Given the description of an element on the screen output the (x, y) to click on. 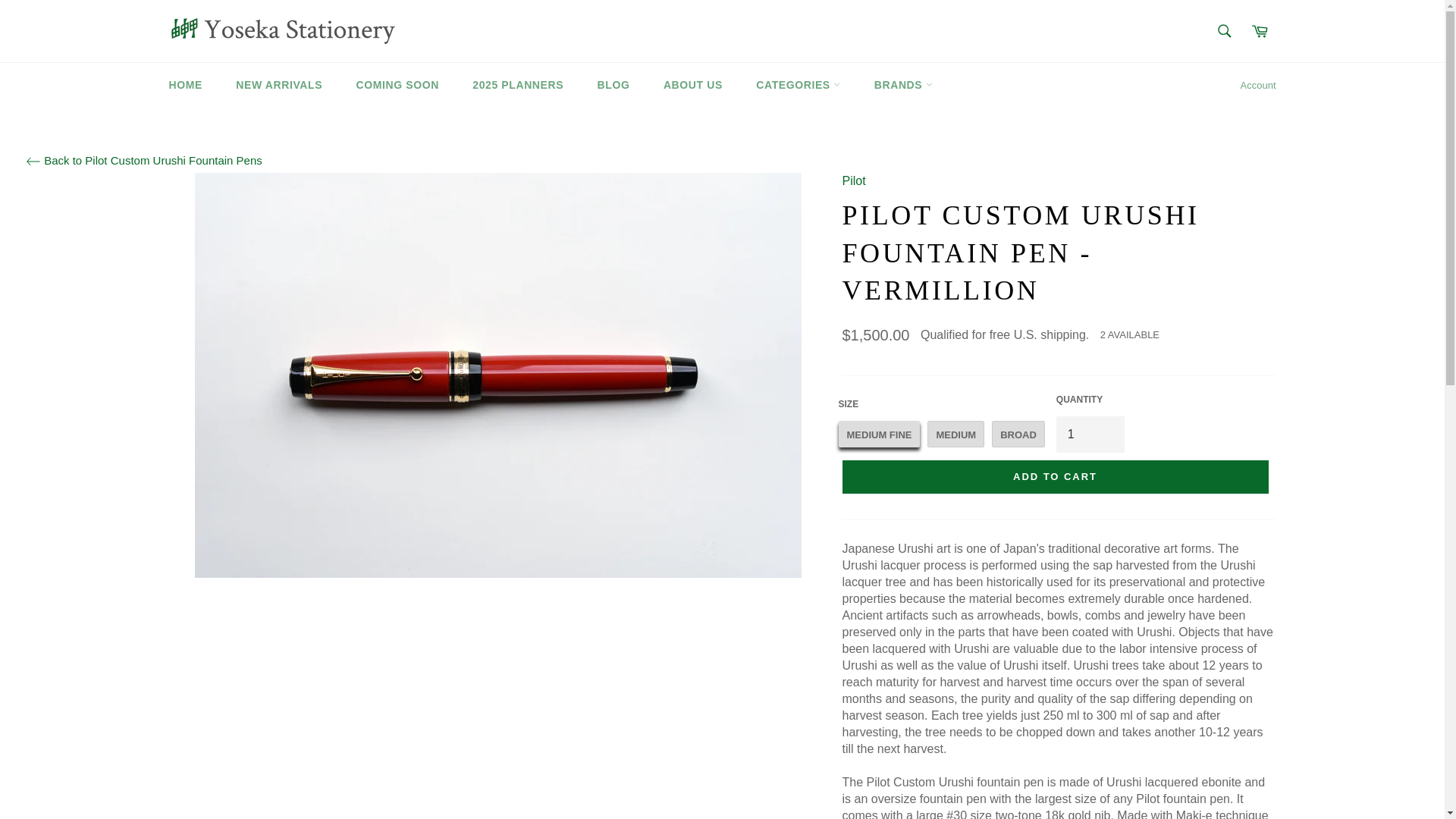
1 (1090, 434)
